Given the description of an element on the screen output the (x, y) to click on. 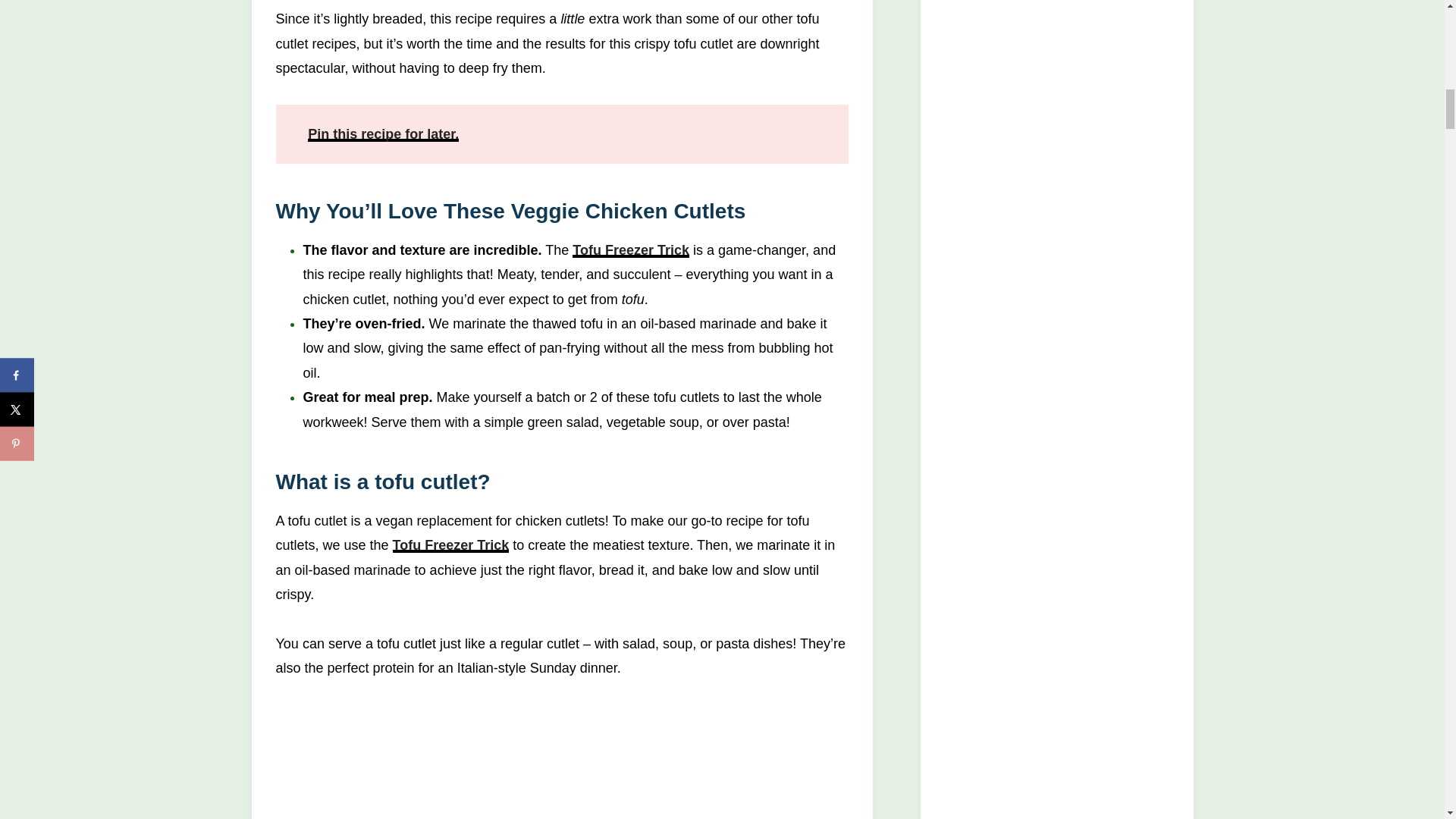
Tofu Freezer Trick (451, 544)
Pin this recipe for later. (382, 133)
Tofu Freezer Trick (630, 249)
